Given the description of an element on the screen output the (x, y) to click on. 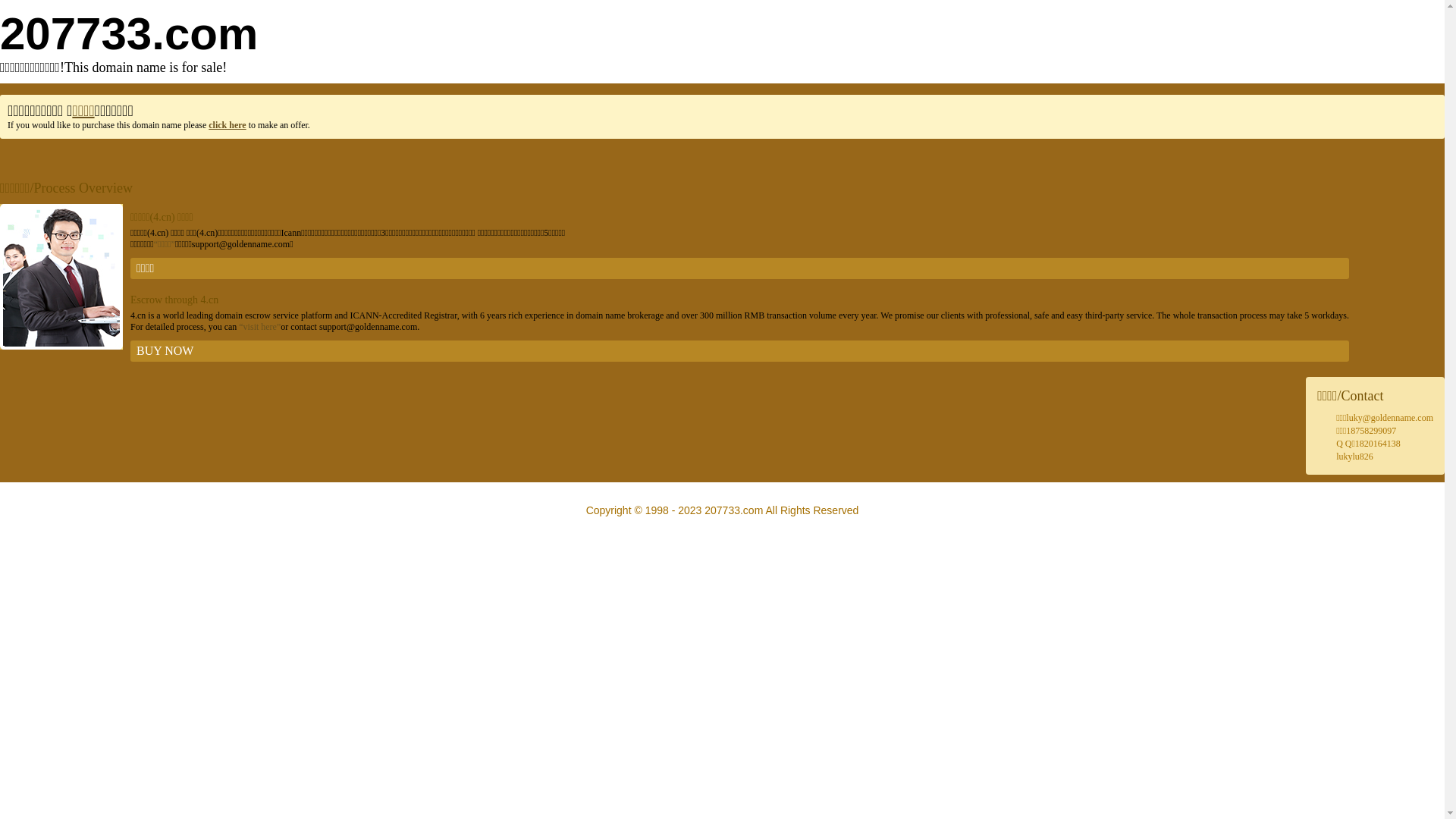
BUY NOW Element type: text (739, 350)
click here Element type: text (226, 124)
